Given the description of an element on the screen output the (x, y) to click on. 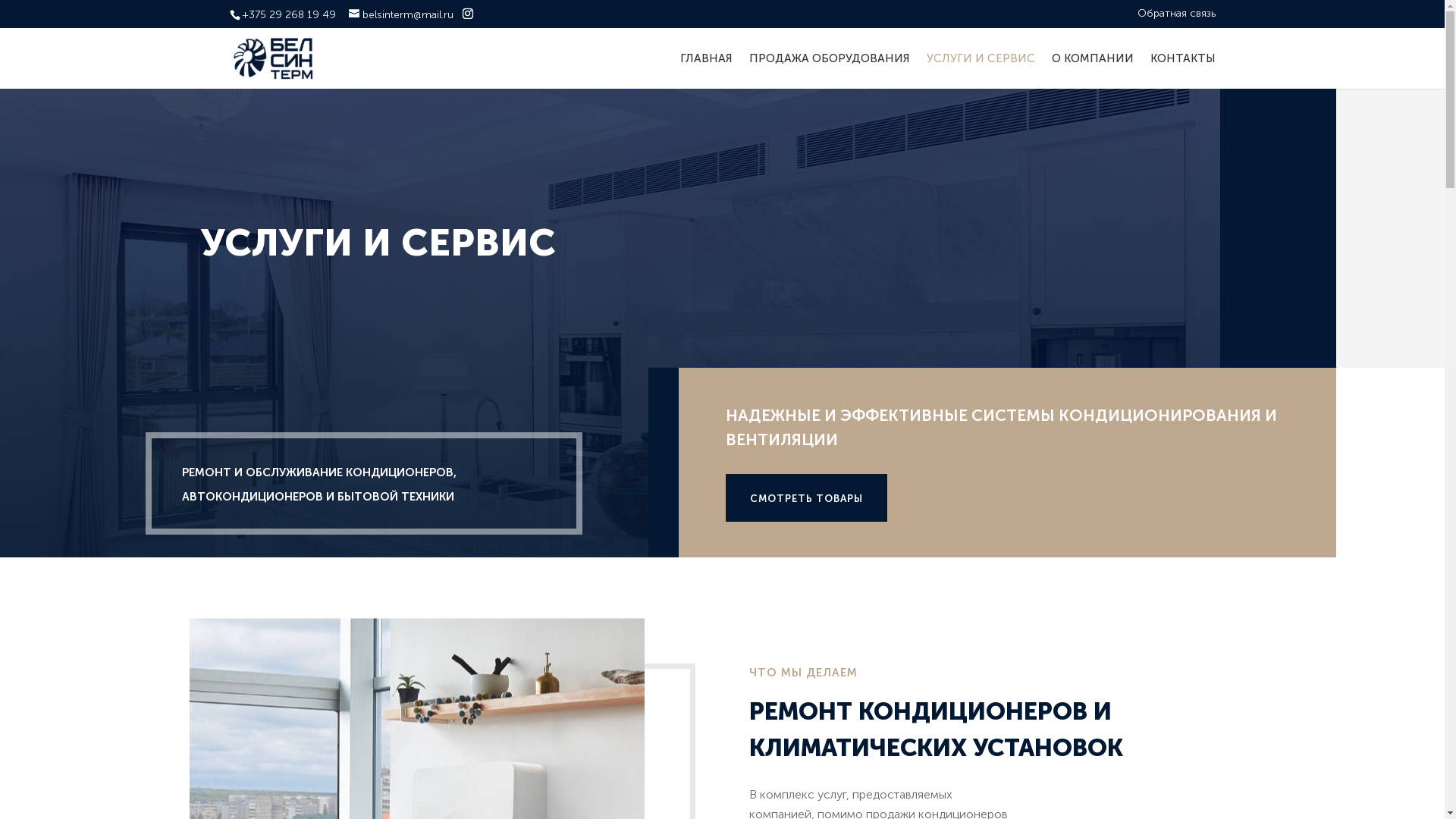
belsinterm@mail.ru Element type: text (400, 13)
